Given the description of an element on the screen output the (x, y) to click on. 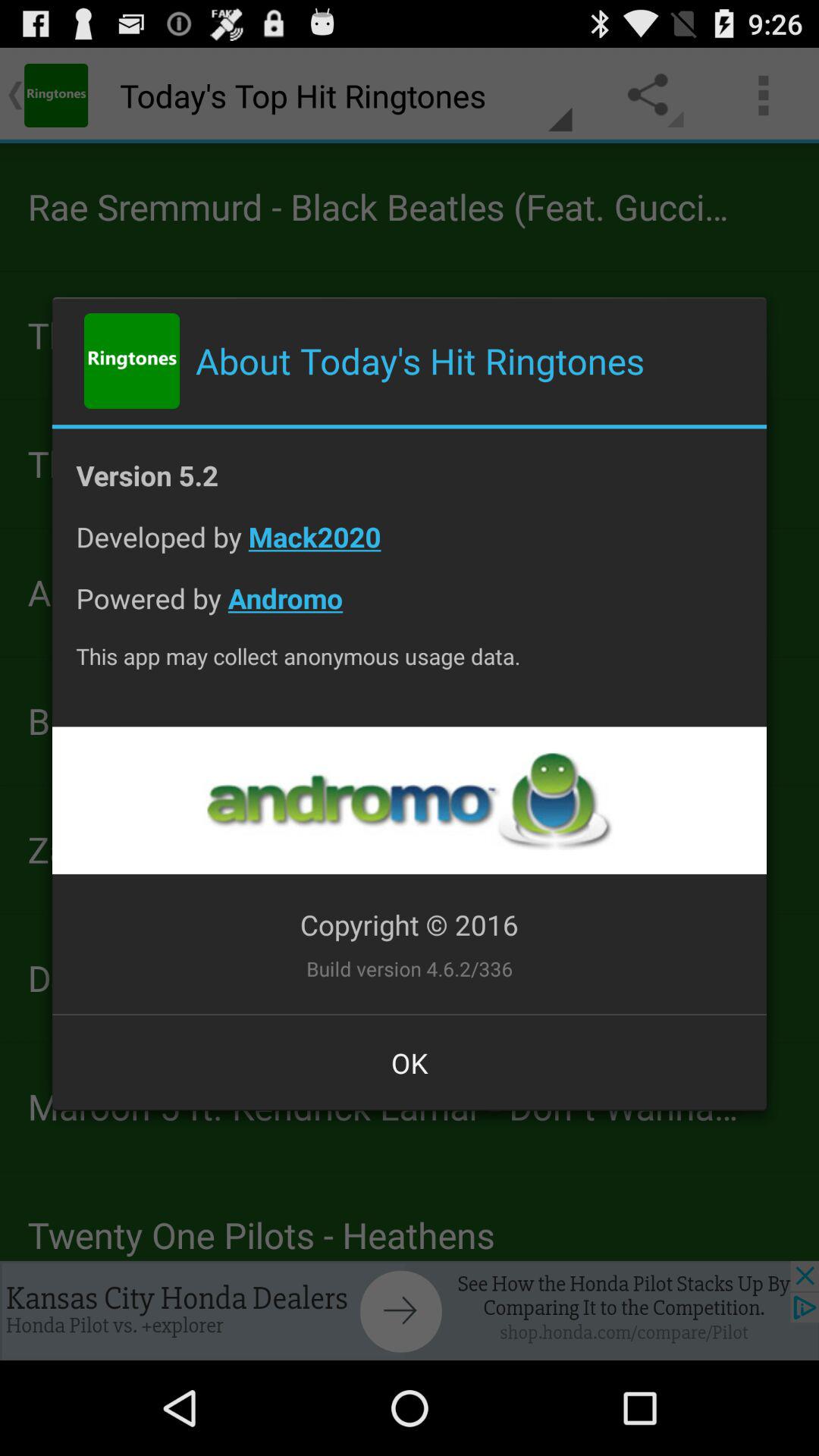
open the ok at the bottom (409, 1062)
